Given the description of an element on the screen output the (x, y) to click on. 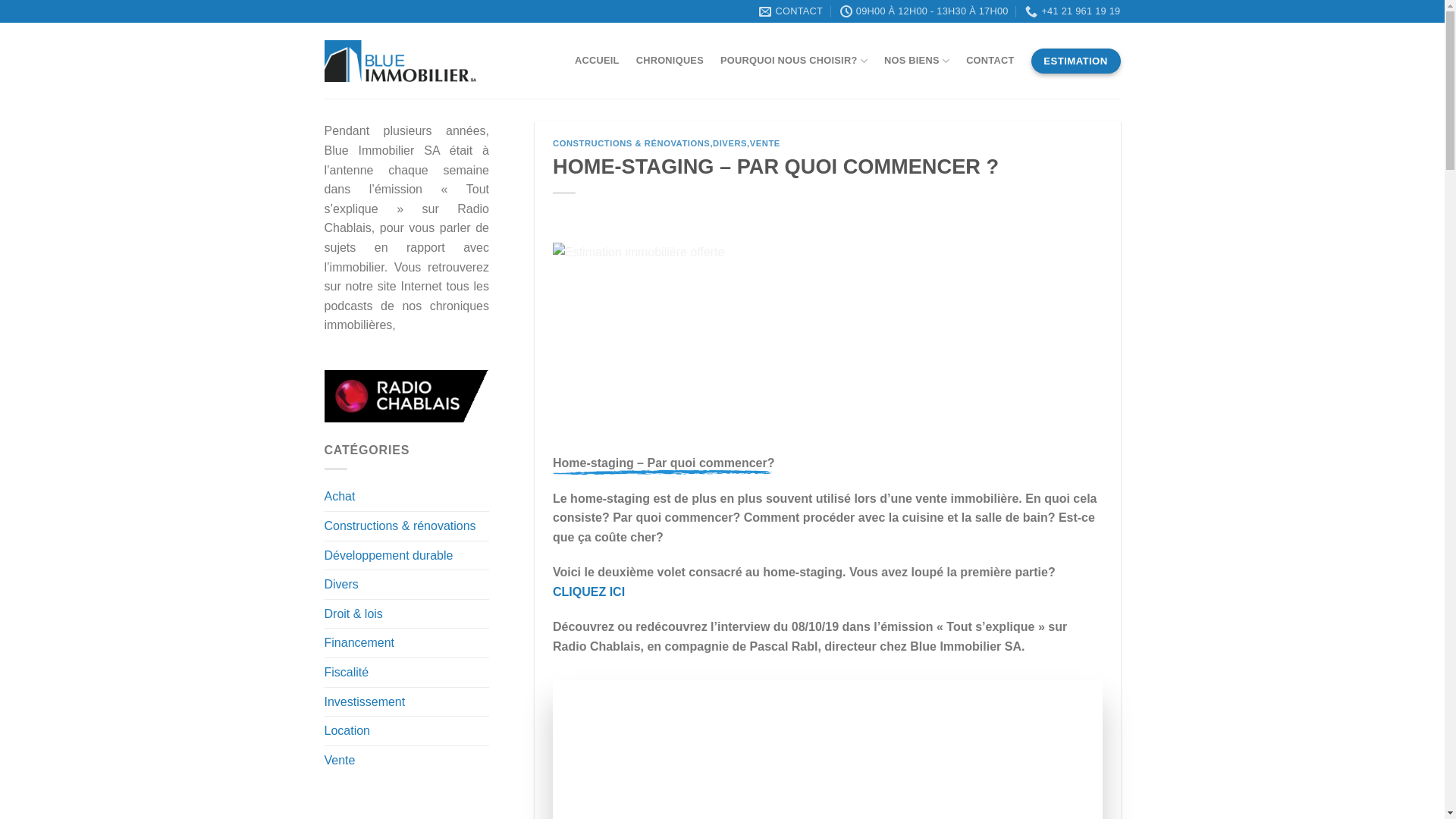
CONTACT Element type: text (790, 11)
Investissement Element type: text (364, 701)
NOS BIENS Element type: text (916, 60)
CHRONIQUES Element type: text (669, 60)
VENTE Element type: text (764, 142)
Vente Element type: text (339, 760)
DIVERS Element type: text (729, 142)
Achat Element type: text (339, 496)
Location Element type: text (347, 730)
+41 21 961 19 19 Element type: text (1072, 11)
Divers Element type: text (341, 584)
CLIQUEZ ICI Element type: text (588, 591)
ESTIMATION Element type: text (1075, 61)
ACCUEIL Element type: text (596, 60)
CONTACT Element type: text (989, 60)
Financement Element type: text (359, 642)
Droit & lois Element type: text (353, 613)
POURQUOI NOUS CHOISIR? Element type: text (793, 60)
